Given the description of an element on the screen output the (x, y) to click on. 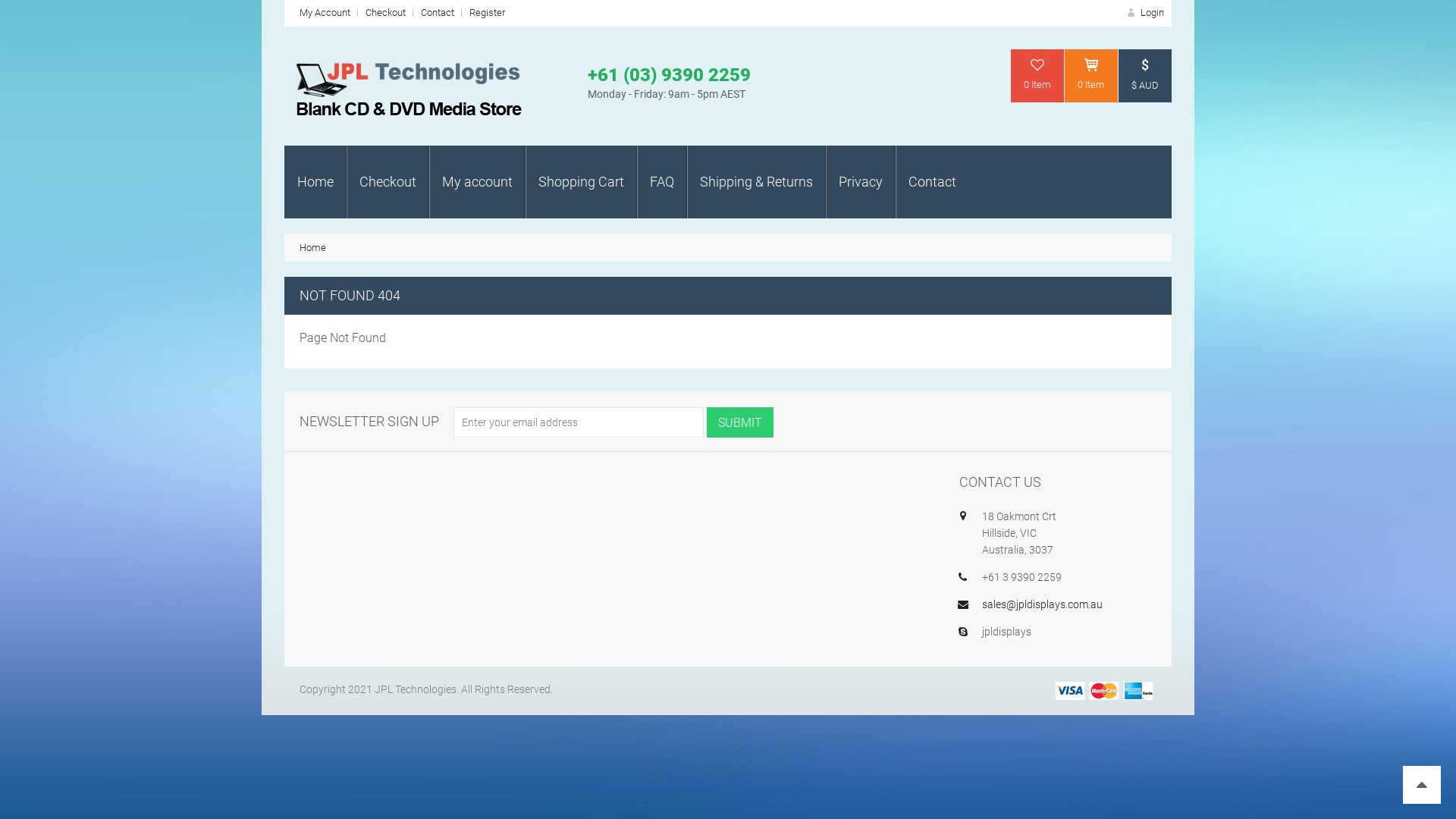
Contact Element type: text (932, 181)
Privacy Element type: text (860, 181)
Checkout Element type: text (387, 181)
$
$ AUD Element type: text (1144, 75)
Checkout Element type: text (385, 12)
Shipping & Returns Element type: text (756, 181)
Home Element type: text (312, 247)
My account Element type: text (477, 181)
Submit Element type: text (739, 422)
Shopping Cart Element type: text (581, 181)
Contact Element type: text (437, 12)
Register Element type: text (487, 12)
FAQ Element type: text (662, 181)
0 Item Element type: text (1036, 75)
LOGIN Element type: text (1201, 238)
Login Element type: text (1144, 12)
Home Element type: text (315, 181)
My Account Element type: text (324, 12)
0 Item Element type: text (1090, 75)
sales@jpldisplays.com.au Element type: text (1042, 604)
